Given the description of an element on the screen output the (x, y) to click on. 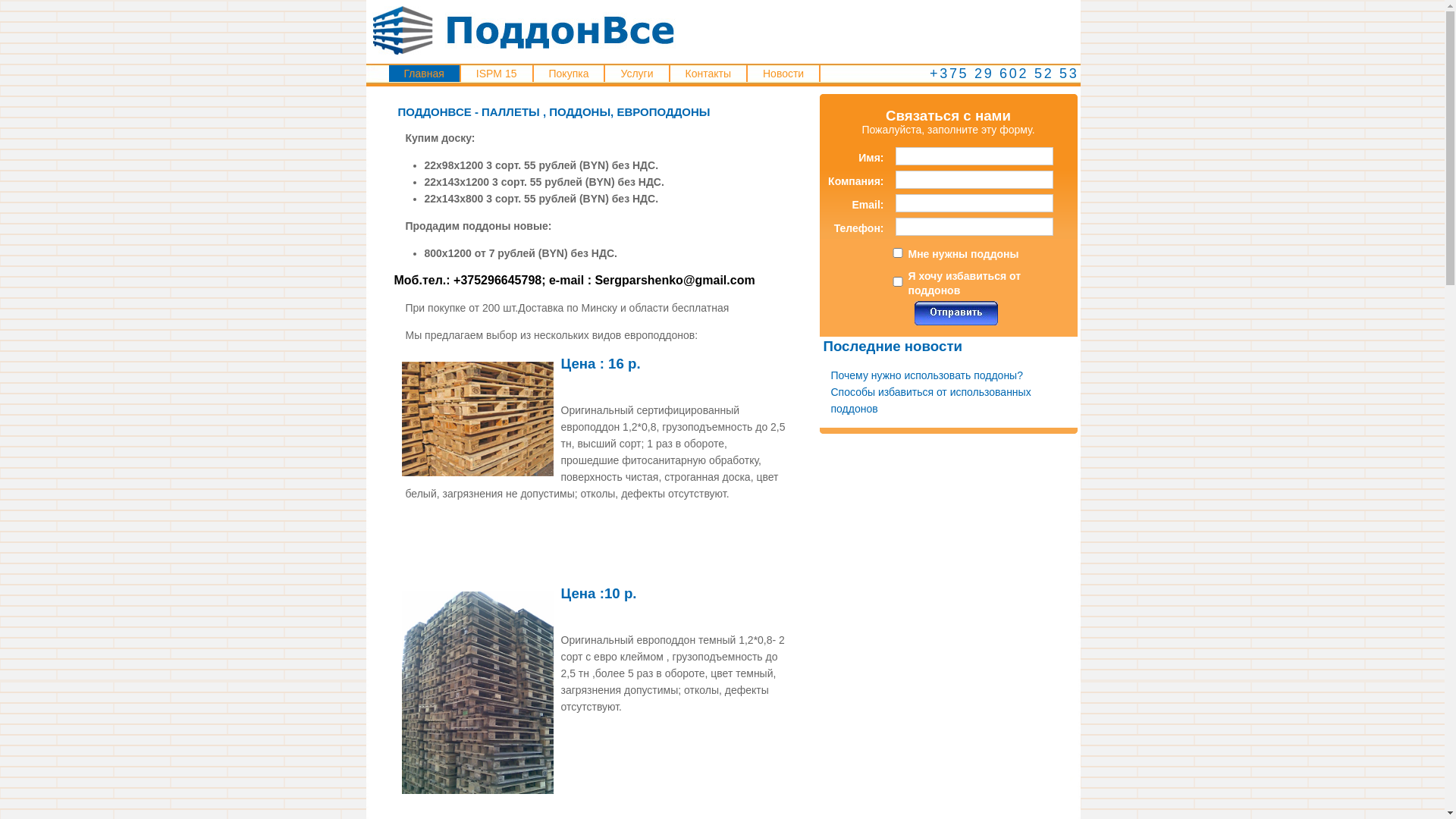
ISPM 15 Element type: text (496, 73)
